Given the description of an element on the screen output the (x, y) to click on. 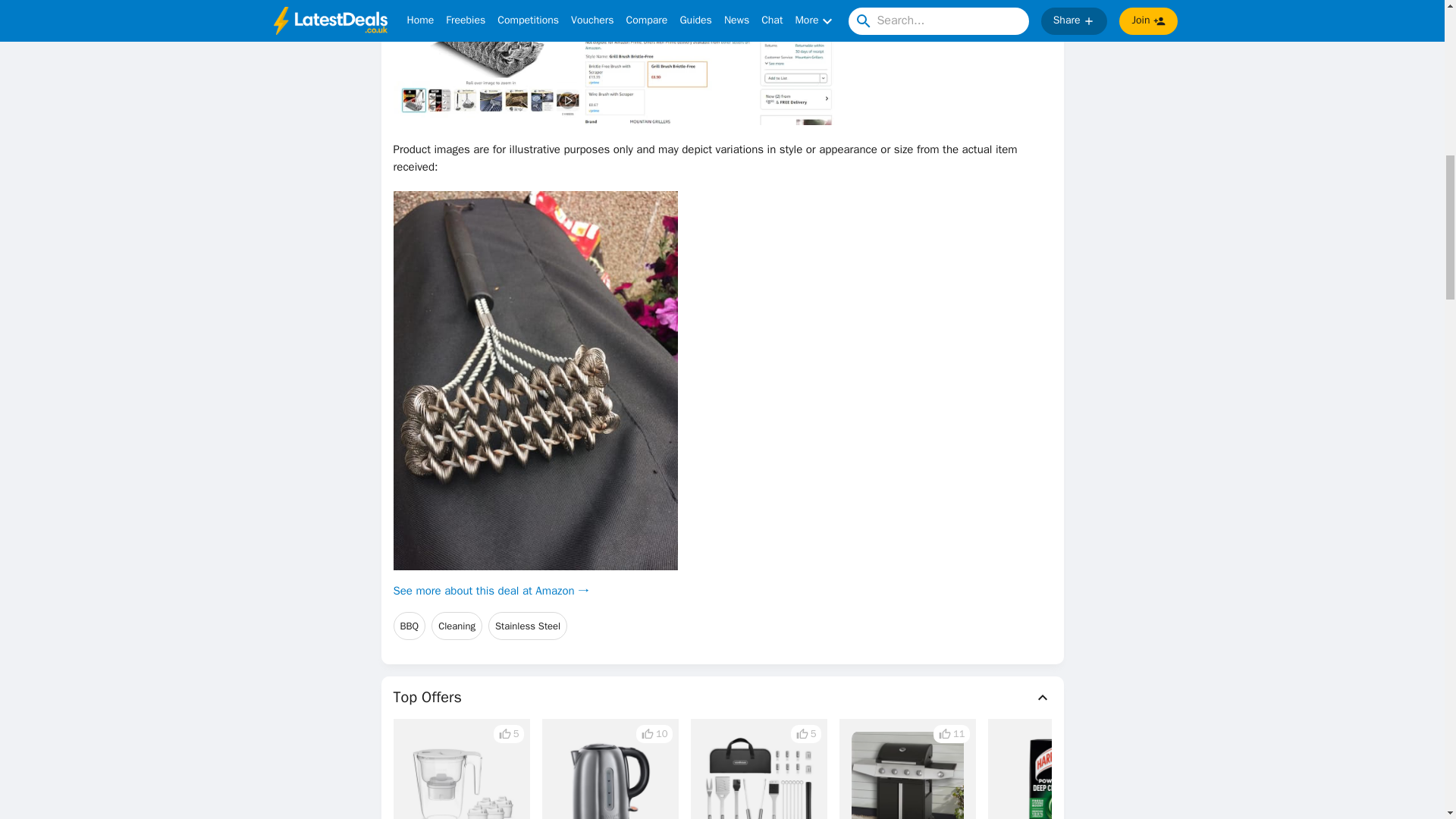
Cleaning (455, 624)
BBQ (409, 624)
Top Offers (722, 697)
See more offers (1329, 805)
Stainless Steel (527, 624)
